Given the description of an element on the screen output the (x, y) to click on. 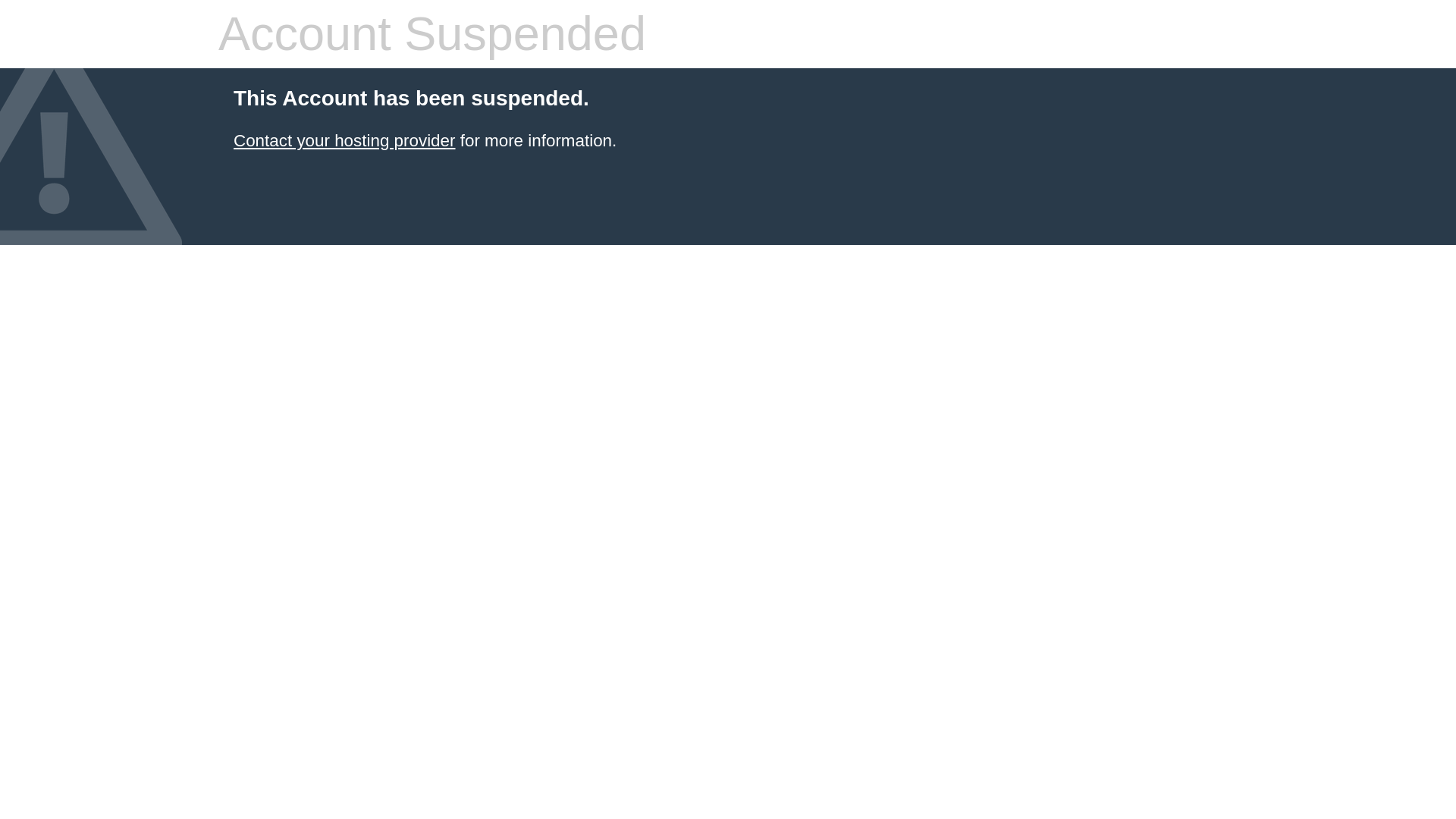
Contact your hosting provider (343, 140)
